Given the description of an element on the screen output the (x, y) to click on. 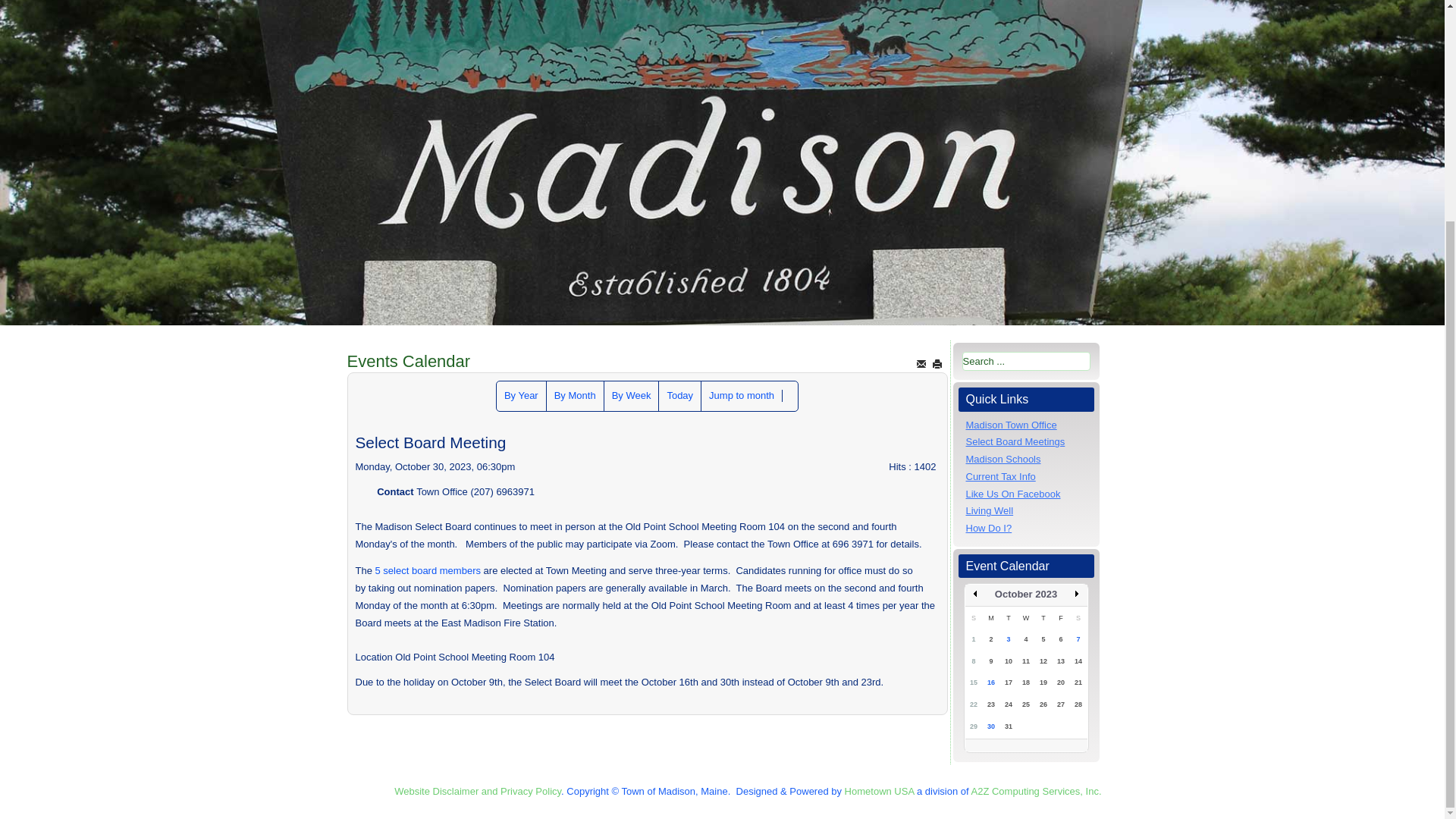
By Year (521, 396)
Jump to month (741, 396)
Print (936, 363)
By Week (631, 396)
By Year (521, 396)
Search ... (1024, 361)
By Month (575, 396)
By Week (631, 396)
EMAIL (920, 363)
Madison Schools (1003, 459)
 5 select board members (426, 570)
Search (790, 395)
Today (679, 396)
Today (679, 396)
Current Tax Info (1000, 476)
